Given the description of an element on the screen output the (x, y) to click on. 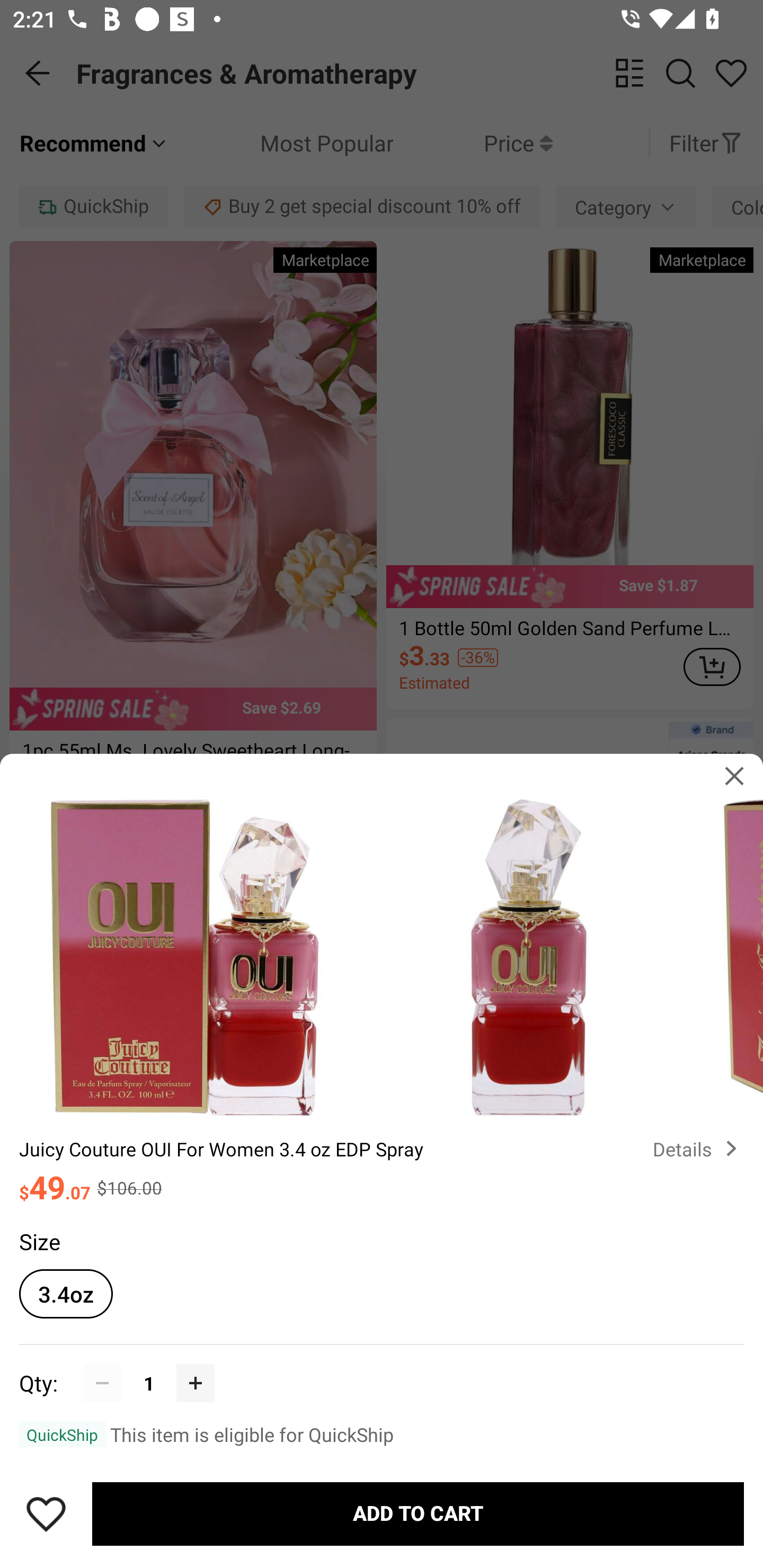
Details (698, 1148)
Size (39, 1240)
3.4oz 3.4ozselected option (65, 1293)
ADD TO CART (417, 1513)
Save (46, 1513)
